Given the description of an element on the screen output the (x, y) to click on. 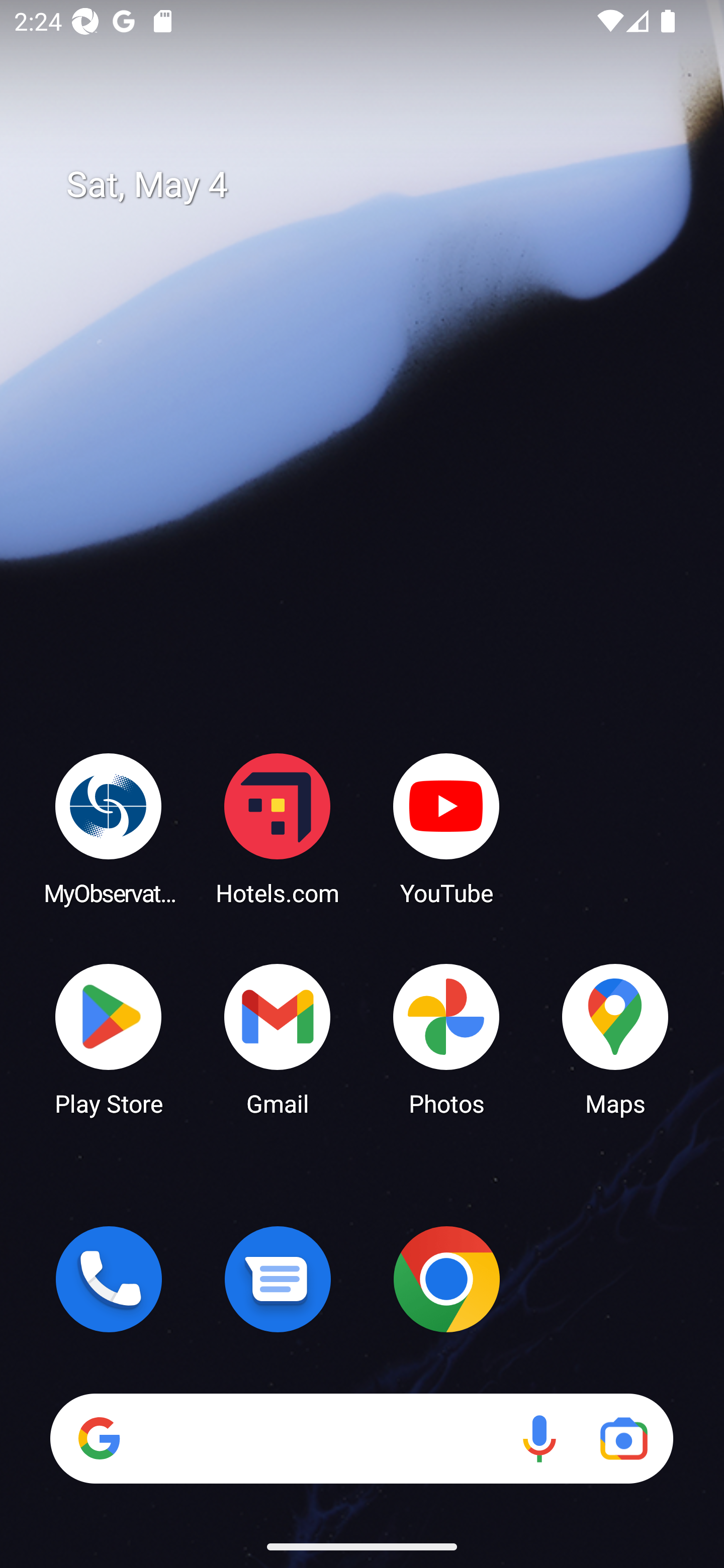
Sat, May 4 (375, 184)
MyObservatory (108, 828)
Hotels.com (277, 828)
YouTube (445, 828)
Play Store (108, 1038)
Gmail (277, 1038)
Photos (445, 1038)
Maps (615, 1038)
Phone (108, 1279)
Messages (277, 1279)
Chrome (446, 1279)
Search Voice search Google Lens (361, 1438)
Voice search (539, 1438)
Google Lens (623, 1438)
